Given the description of an element on the screen output the (x, y) to click on. 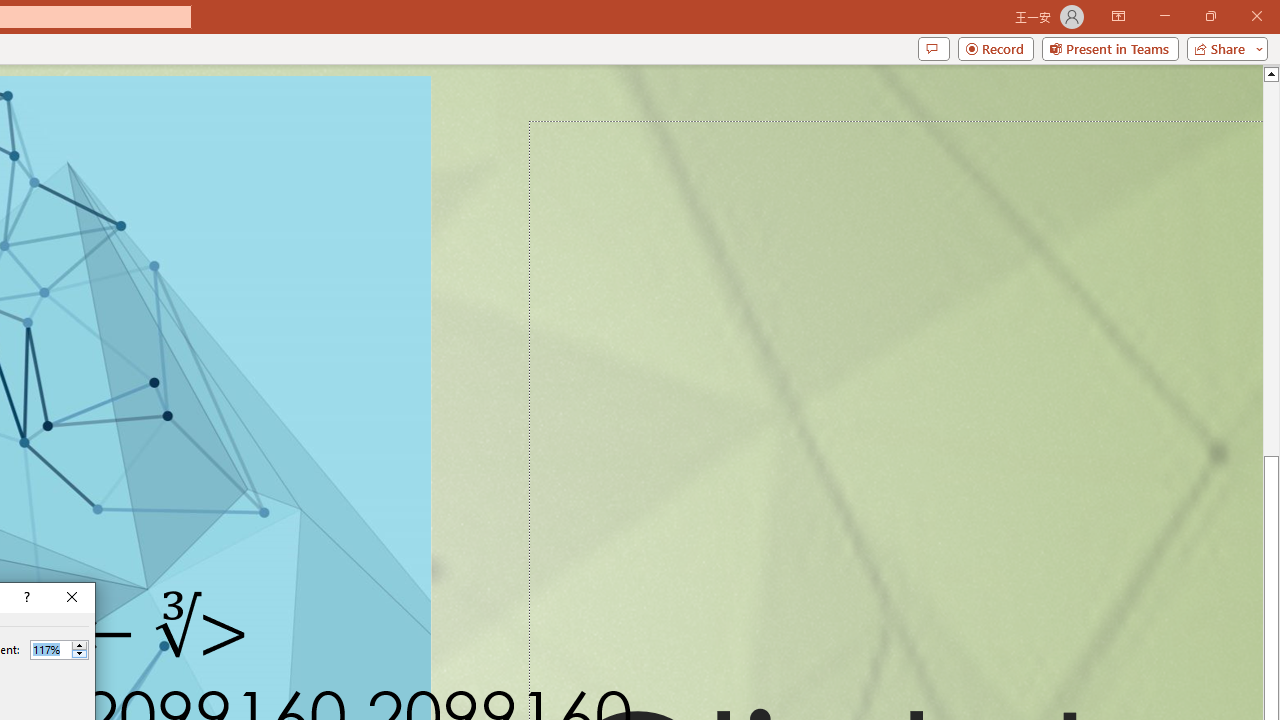
Percent (50, 649)
Percent (59, 650)
Context help (25, 597)
